Given the description of an element on the screen output the (x, y) to click on. 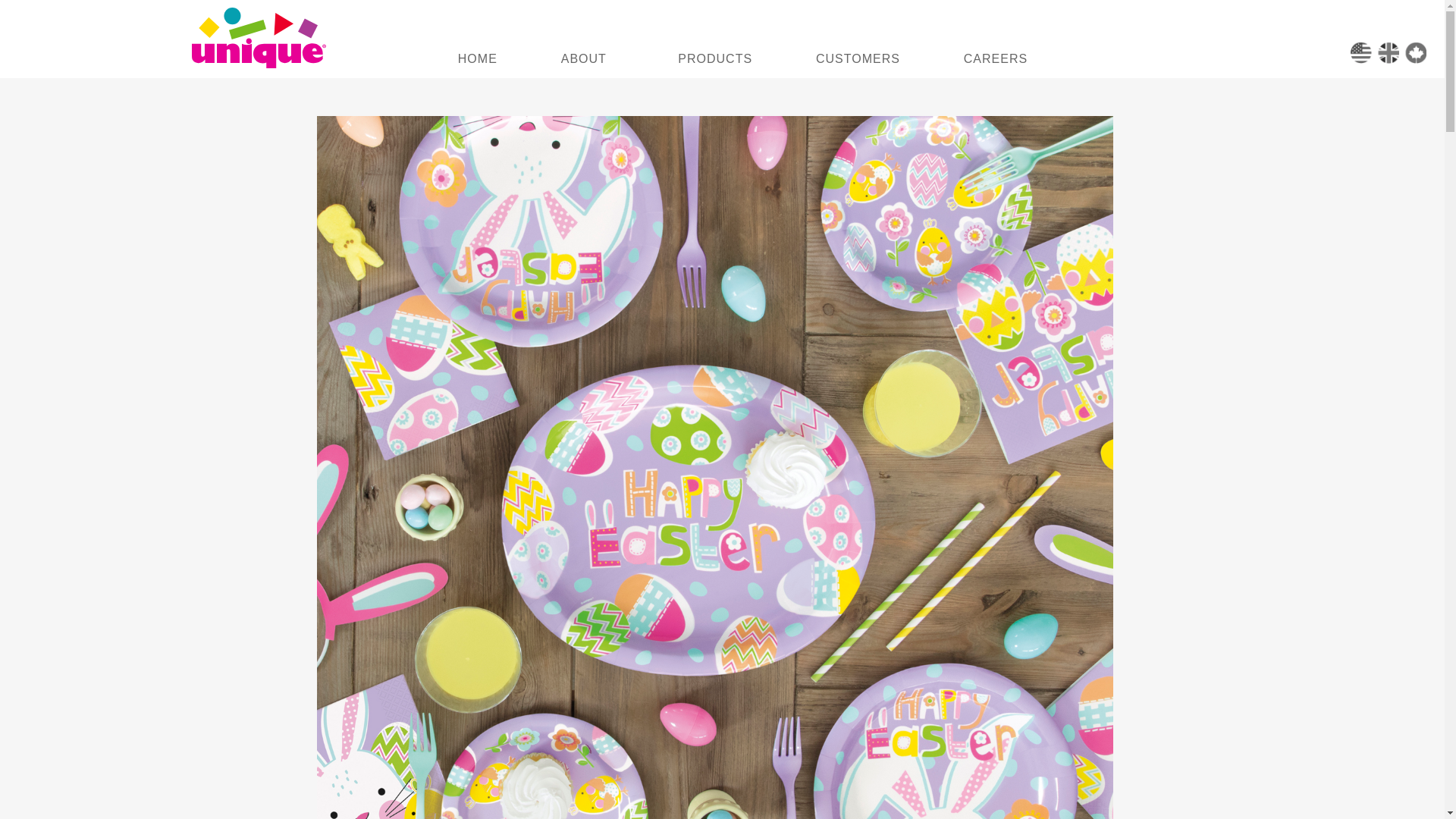
HOME (477, 54)
PRODUCTS (715, 54)
Canada (1415, 52)
CAREERS (995, 54)
CUSTOMERS (858, 54)
UK (1388, 52)
ABOUT   (588, 54)
Home (1361, 52)
